Given the description of an element on the screen output the (x, y) to click on. 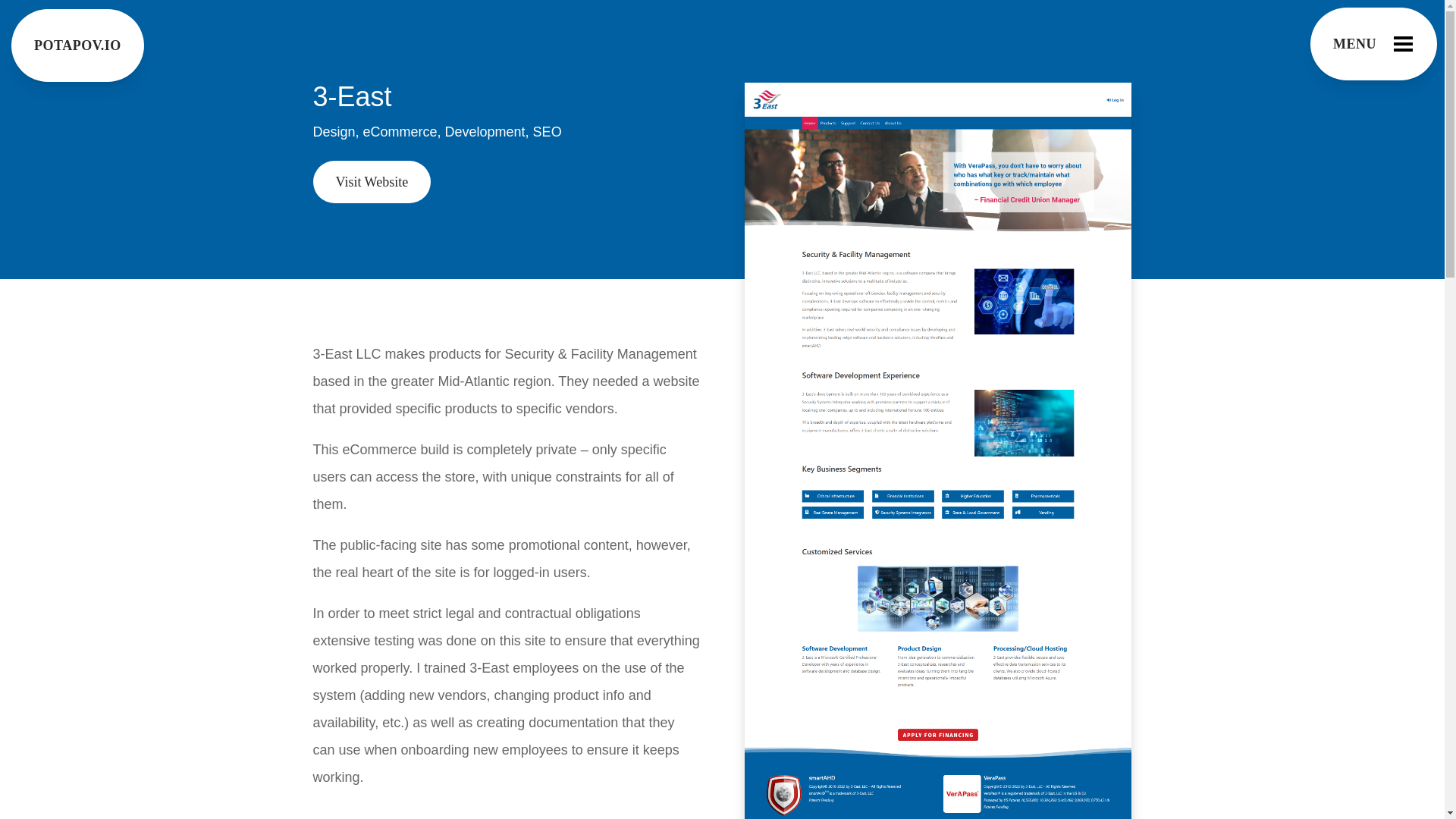
MENU (1373, 43)
Visit Website (371, 181)
POTAPOV.IO (77, 45)
